Given the description of an element on the screen output the (x, y) to click on. 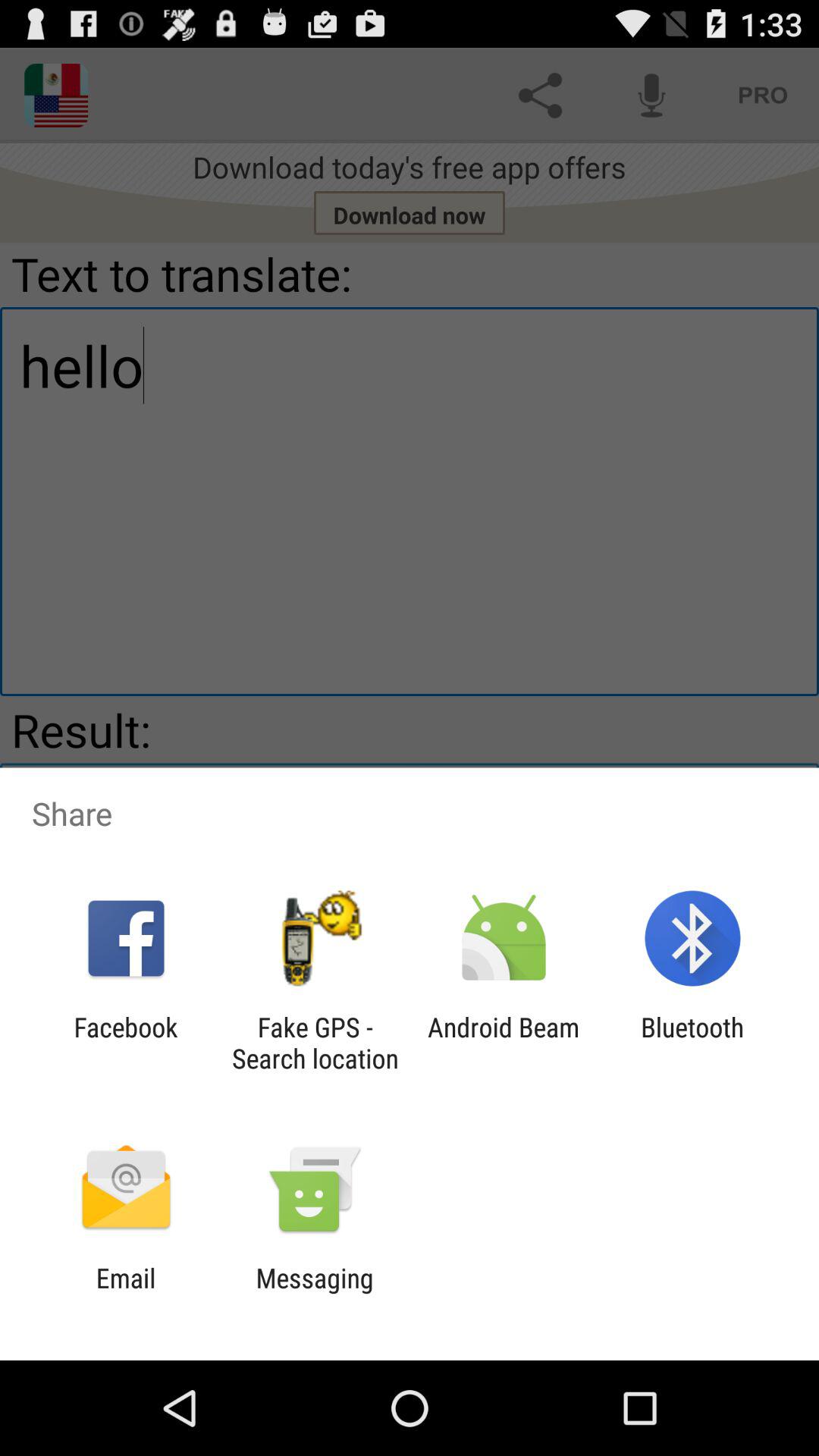
flip until the messaging app (314, 1293)
